Given the description of an element on the screen output the (x, y) to click on. 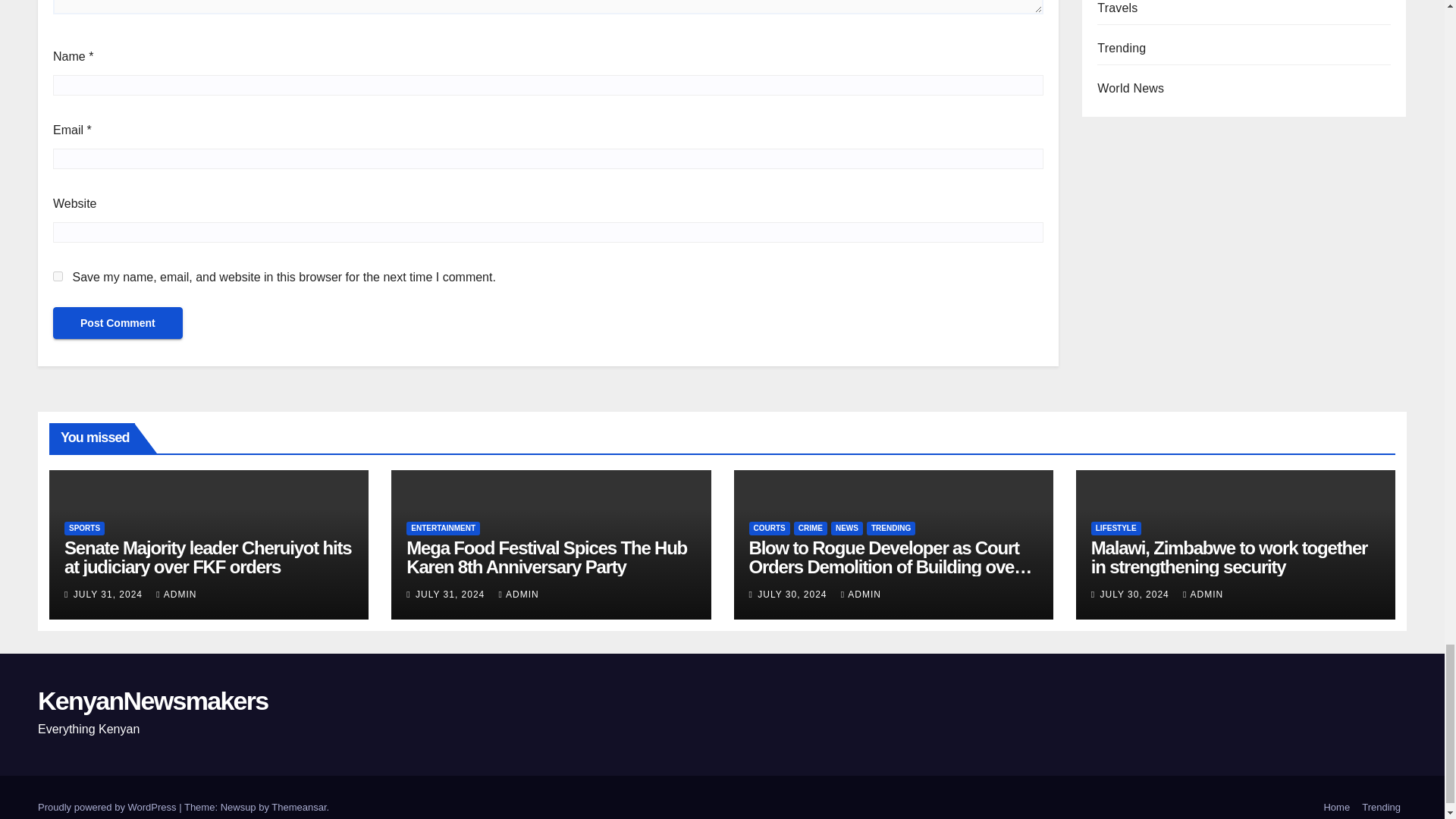
yes (57, 276)
Post Comment (117, 323)
